Given the description of an element on the screen output the (x, y) to click on. 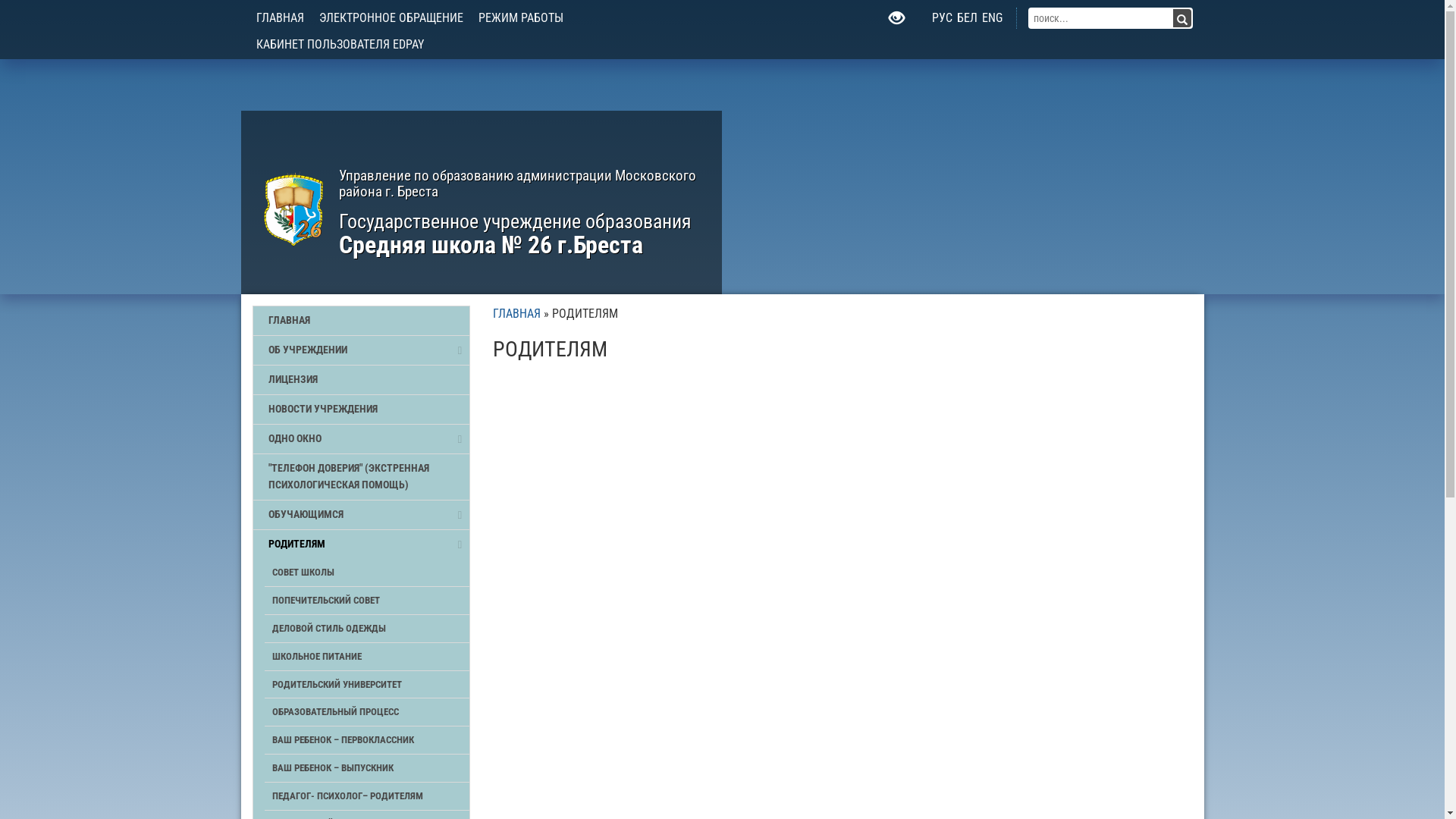
ENG Element type: text (991, 18)
